Given the description of an element on the screen output the (x, y) to click on. 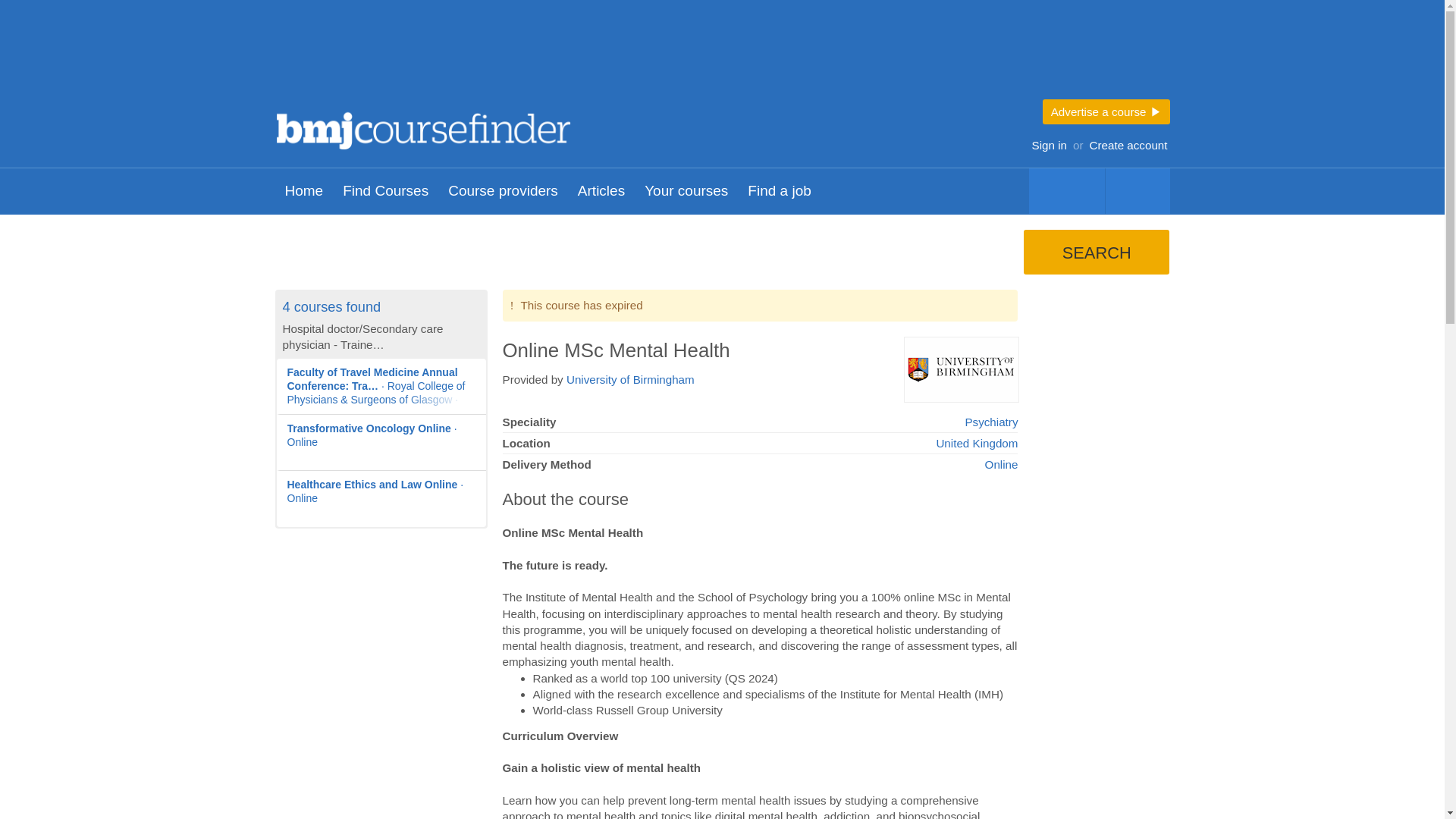
Your courses (686, 191)
Healthcare Ethics and Law Online (380, 498)
Sign in (1048, 145)
University of Birmingham (630, 379)
Advertise a course (1106, 111)
Psychiatry (990, 421)
Create account (1128, 145)
Articles (600, 191)
4 courses found (331, 306)
Editorial (1137, 190)
Online (1001, 463)
Transformative Oncology Online (380, 442)
Jobs (1065, 190)
Find a job (779, 191)
